Given the description of an element on the screen output the (x, y) to click on. 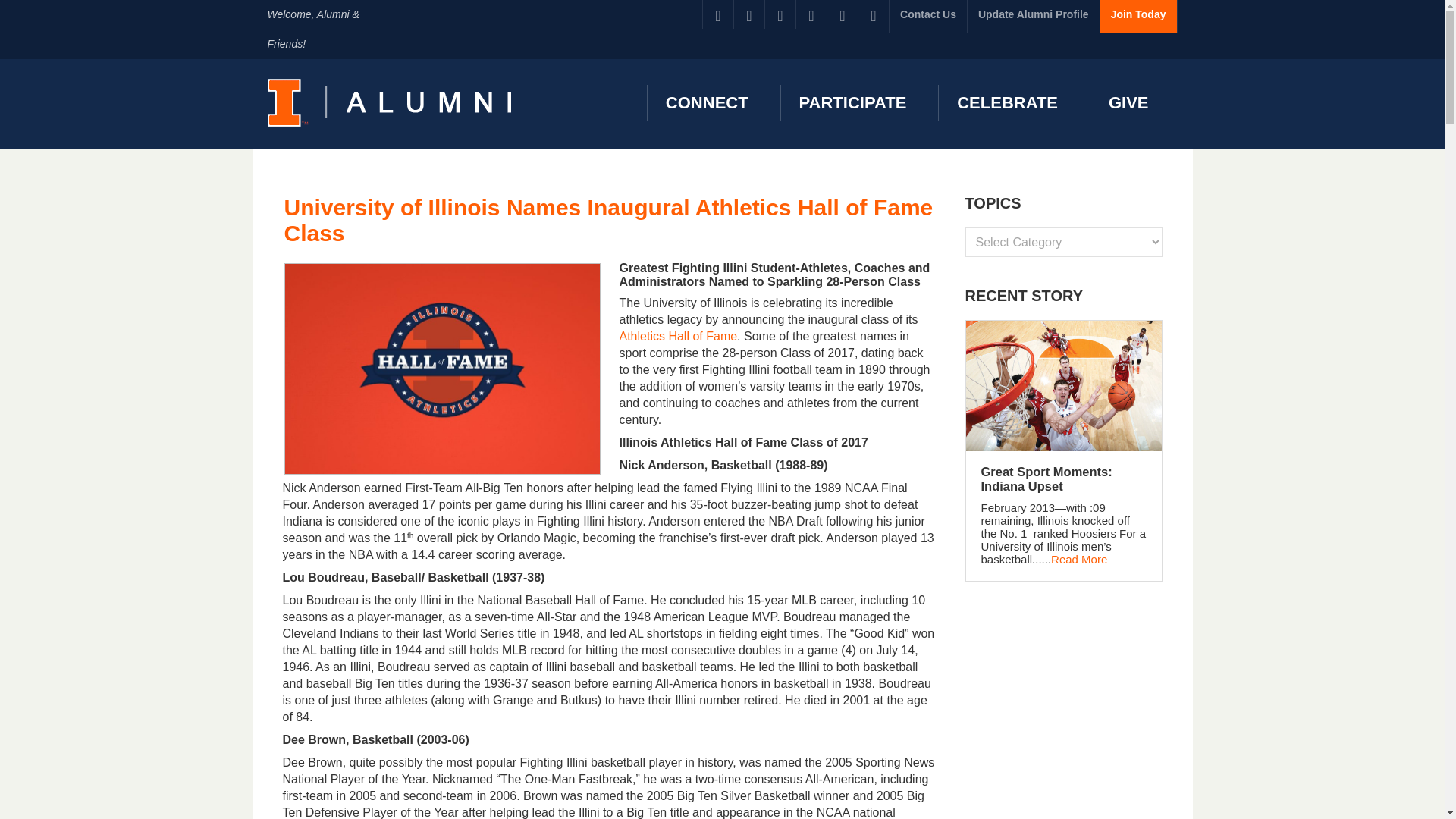
CELEBRATE (1004, 103)
Search (22, 8)
Linkedin (779, 14)
GIVE (1126, 103)
CONNECT (704, 103)
Instagram (842, 14)
Twitter (748, 14)
PARTICIPATE (850, 103)
Flickr (811, 14)
Update Alumni Profile (1033, 16)
Join Today (1138, 16)
Facebook (718, 14)
Contact Us (927, 16)
